Given the description of an element on the screen output the (x, y) to click on. 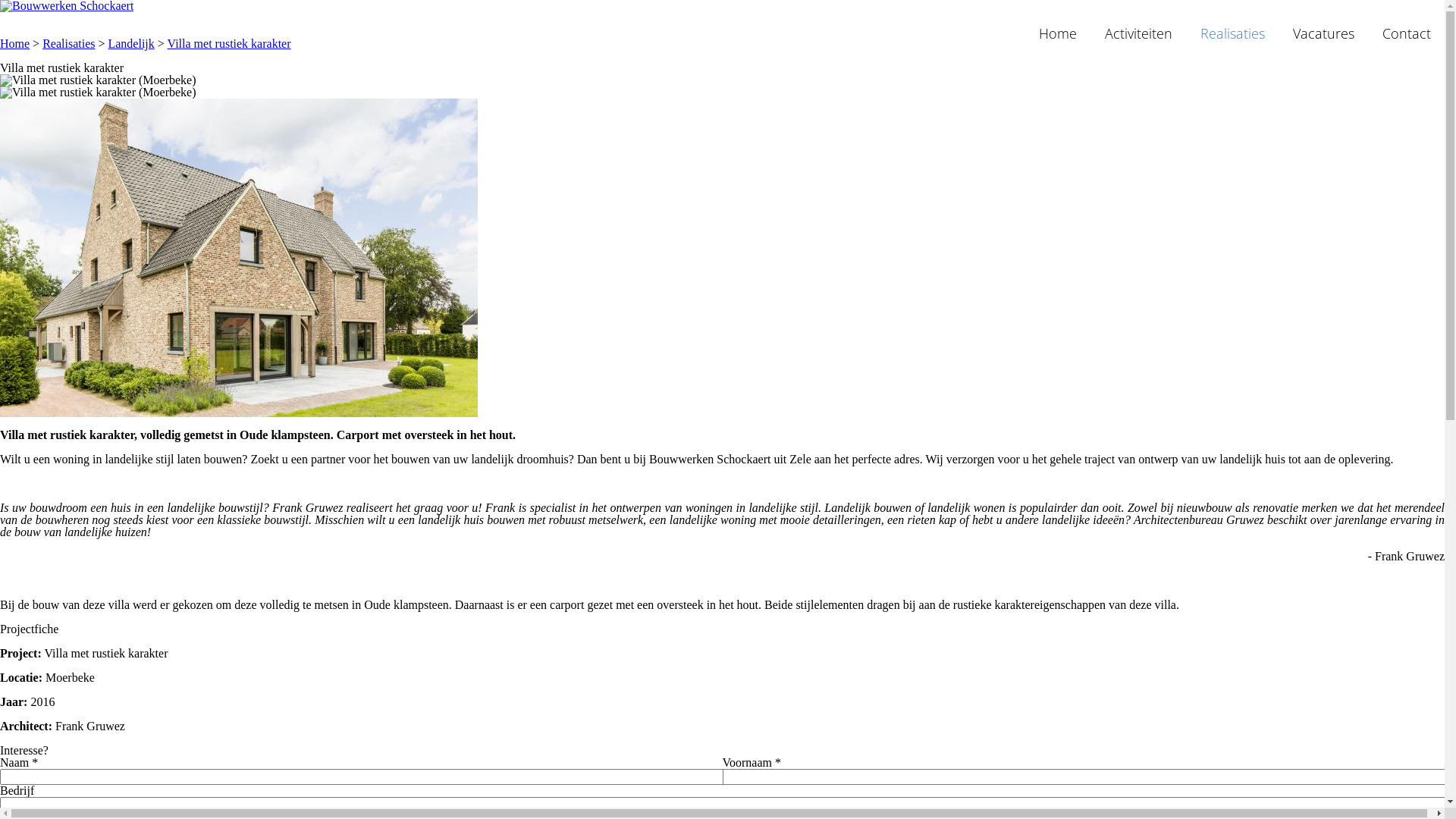
Villa met rustiek karakter (Moerbeke) Element type: hover (238, 257)
Home Element type: text (14, 43)
Villa met rustiek karakter (Moerbeke) Element type: hover (722, 92)
Realisaties Element type: text (1232, 34)
Realisaties Element type: text (68, 43)
Landelijk Element type: text (130, 43)
Villa met rustiek karakter Element type: text (229, 43)
Vacatures Element type: text (1323, 34)
Contact Element type: text (1406, 34)
Bouwwerken Schockaert Element type: hover (66, 6)
Villa met rustiek karakter (Moerbeke) Element type: hover (722, 80)
Activiteiten Element type: text (1138, 34)
Home Element type: text (1057, 34)
